Given the description of an element on the screen output the (x, y) to click on. 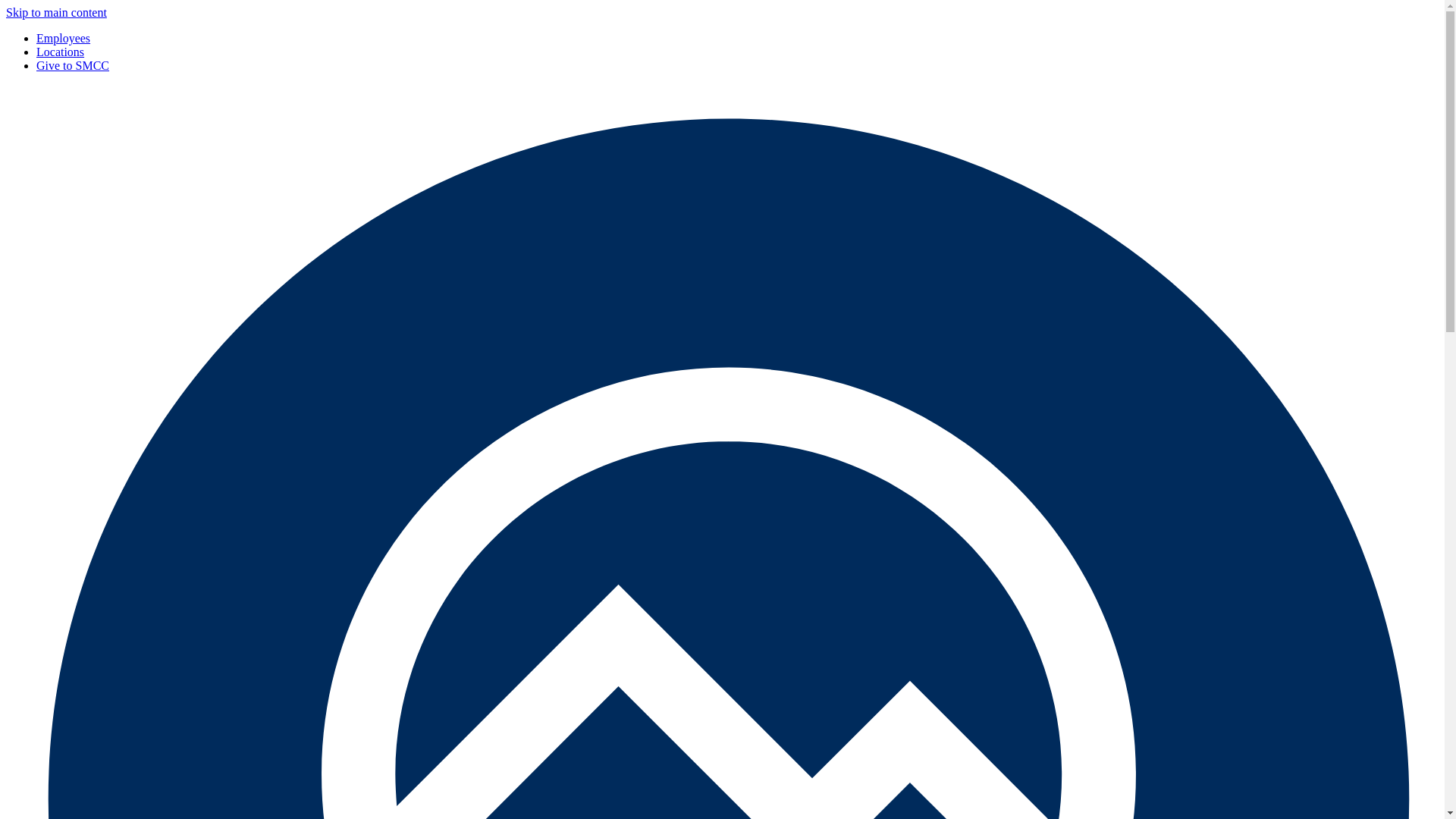
Give to SMCC (72, 65)
Locations (60, 51)
Employees (63, 38)
Locations (60, 51)
SMCC Employee Directory (63, 38)
Skip to main content (55, 11)
Give to SMCC (72, 65)
